Given the description of an element on the screen output the (x, y) to click on. 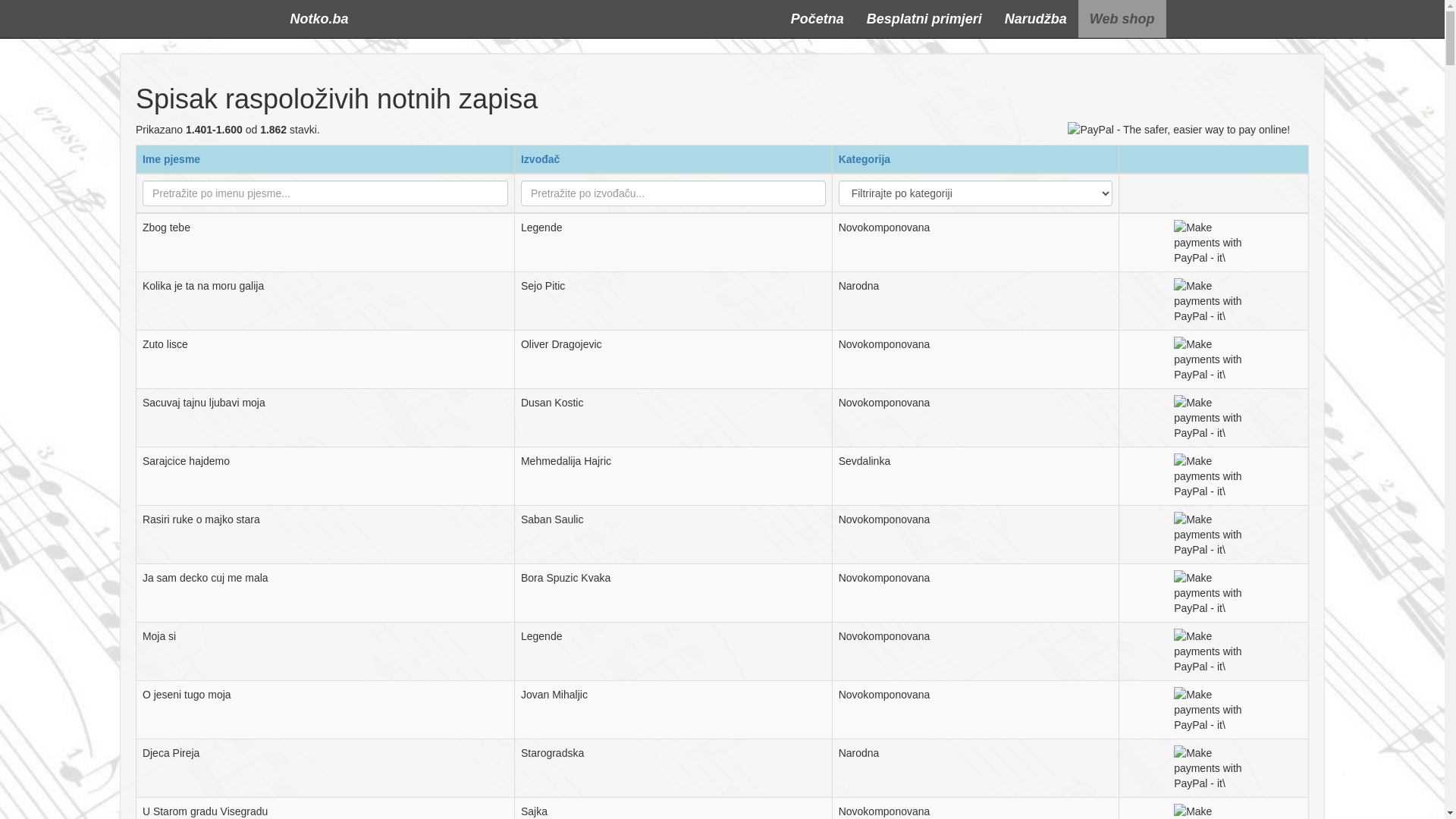
Ime pjesme Element type: text (171, 159)
Kategorija Element type: text (864, 159)
Notko.ba Element type: text (319, 18)
Besplatni primjeri Element type: text (924, 18)
Web shop Element type: text (1122, 18)
